Given the description of an element on the screen output the (x, y) to click on. 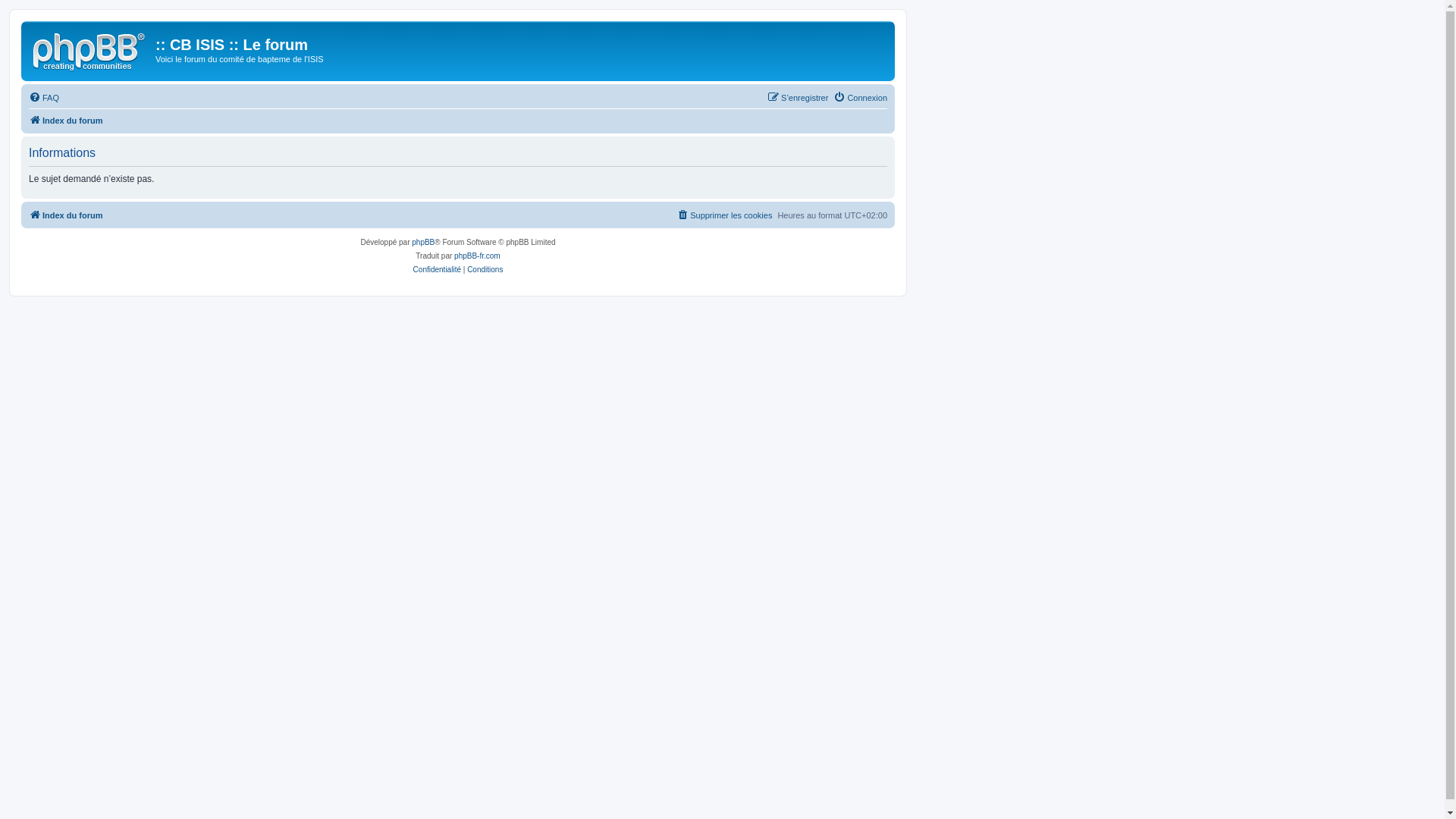
Conditions Element type: text (484, 269)
phpBB Element type: text (422, 242)
phpBB-fr.com Element type: text (477, 256)
Supprimer les cookies Element type: text (723, 215)
Index du forum Element type: text (65, 215)
Connexion Element type: text (860, 97)
Index du forum Element type: hover (90, 49)
FAQ Element type: text (43, 97)
Index du forum Element type: text (65, 120)
